Given the description of an element on the screen output the (x, y) to click on. 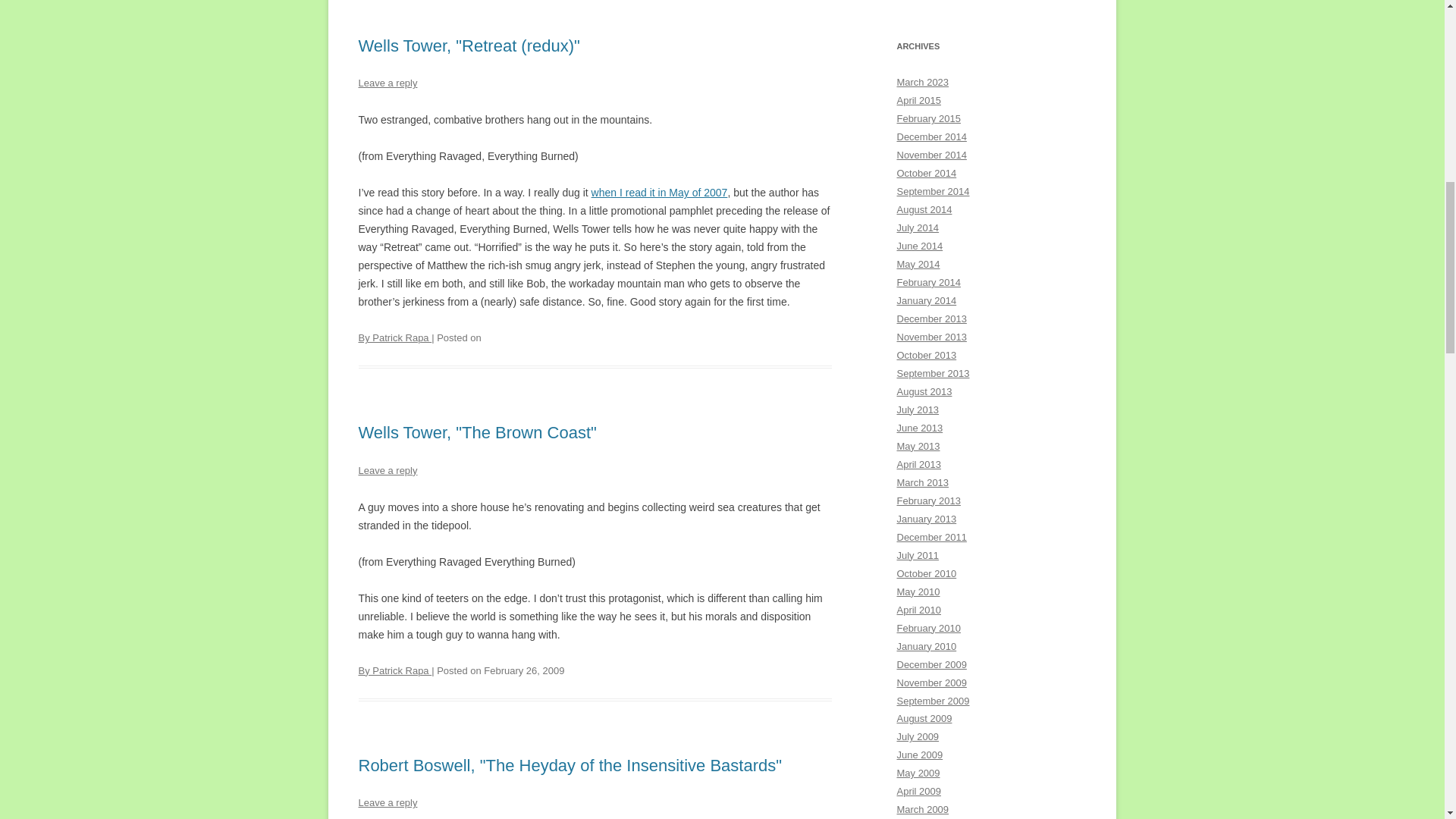
By Patrick Rapa (394, 337)
when I read it in May of 2007 (659, 192)
Leave a reply (387, 470)
Wells Tower, "The Brown Coast" (476, 432)
Leave a reply (387, 802)
Robert Boswell, "The Heyday of the Insensitive Bastards" (569, 764)
Comment on Wells Tower, "The Brown Coast" (387, 470)
Leave a reply (387, 82)
Permalink to Wells Tower, "The Brown Coast" (476, 432)
By Patrick Rapa (394, 670)
